Given the description of an element on the screen output the (x, y) to click on. 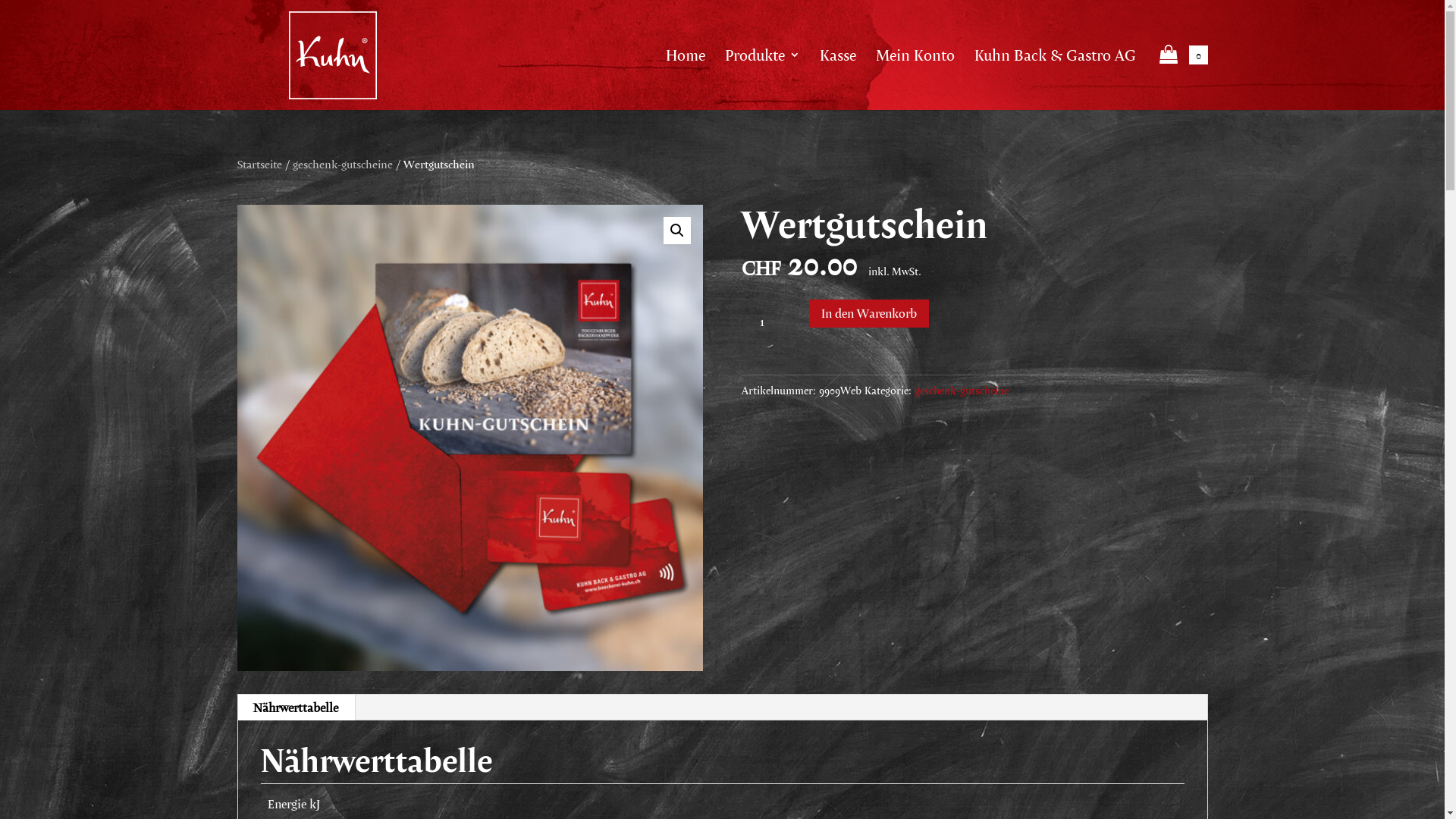
geschenk-gutscheine Element type: text (342, 163)
0 Element type: text (1181, 77)
Startseite Element type: text (258, 163)
geschenk-gutscheine Element type: text (961, 390)
In den Warenkorb Element type: text (868, 313)
Kuhn Gutschein Cat Element type: hover (469, 437)
Home Element type: text (685, 77)
